Given the description of an element on the screen output the (x, y) to click on. 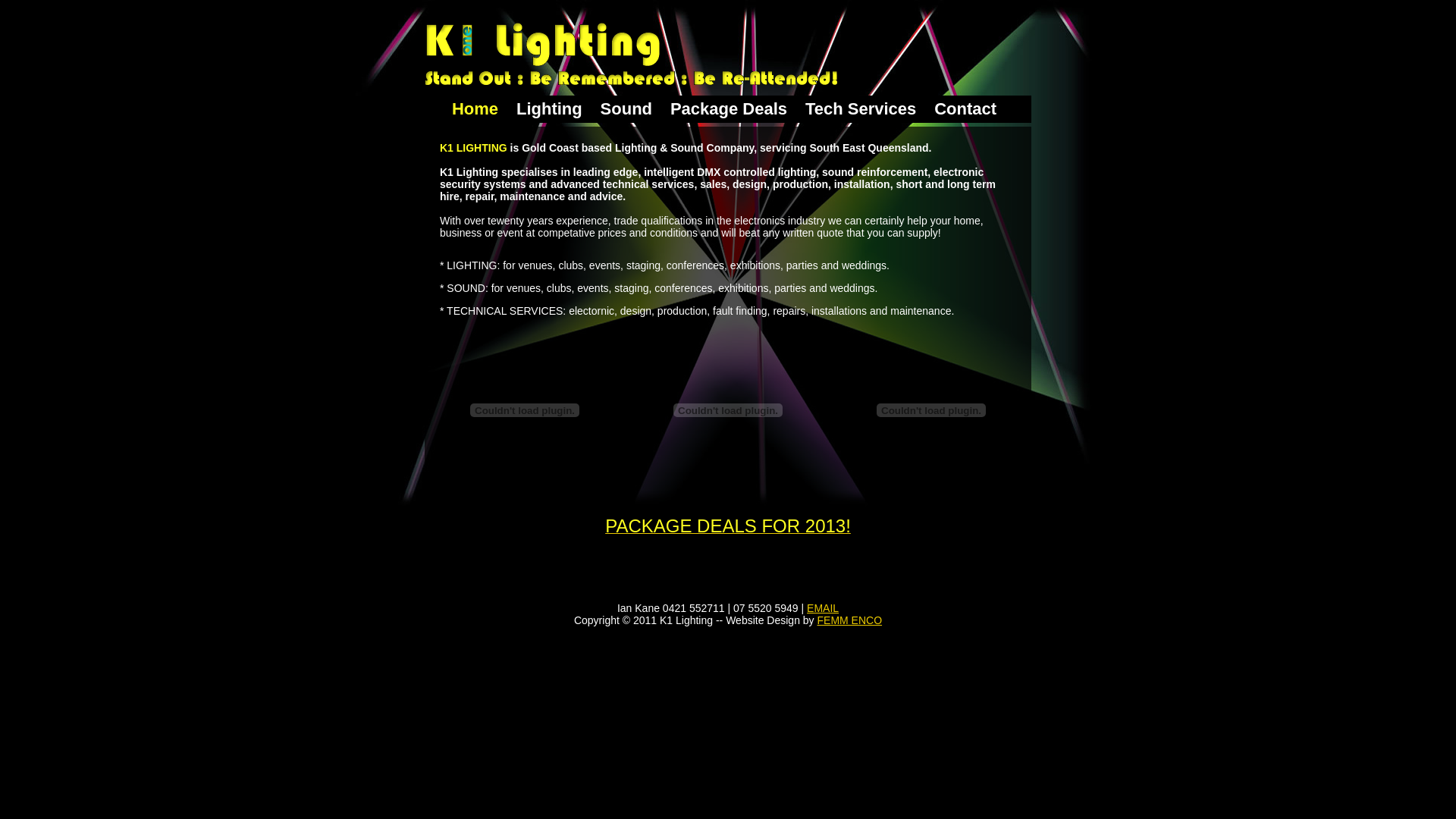
Tech Services Element type: text (860, 108)
PACKAGE DEALS FOR 2013! Element type: text (727, 528)
Home Element type: text (474, 108)
Package Deals Element type: text (728, 108)
EMAIL Element type: text (822, 608)
Lighting Element type: text (549, 108)
FEMM ENCO Element type: text (849, 620)
Sound Element type: text (626, 108)
Contact Element type: text (965, 108)
